Given the description of an element on the screen output the (x, y) to click on. 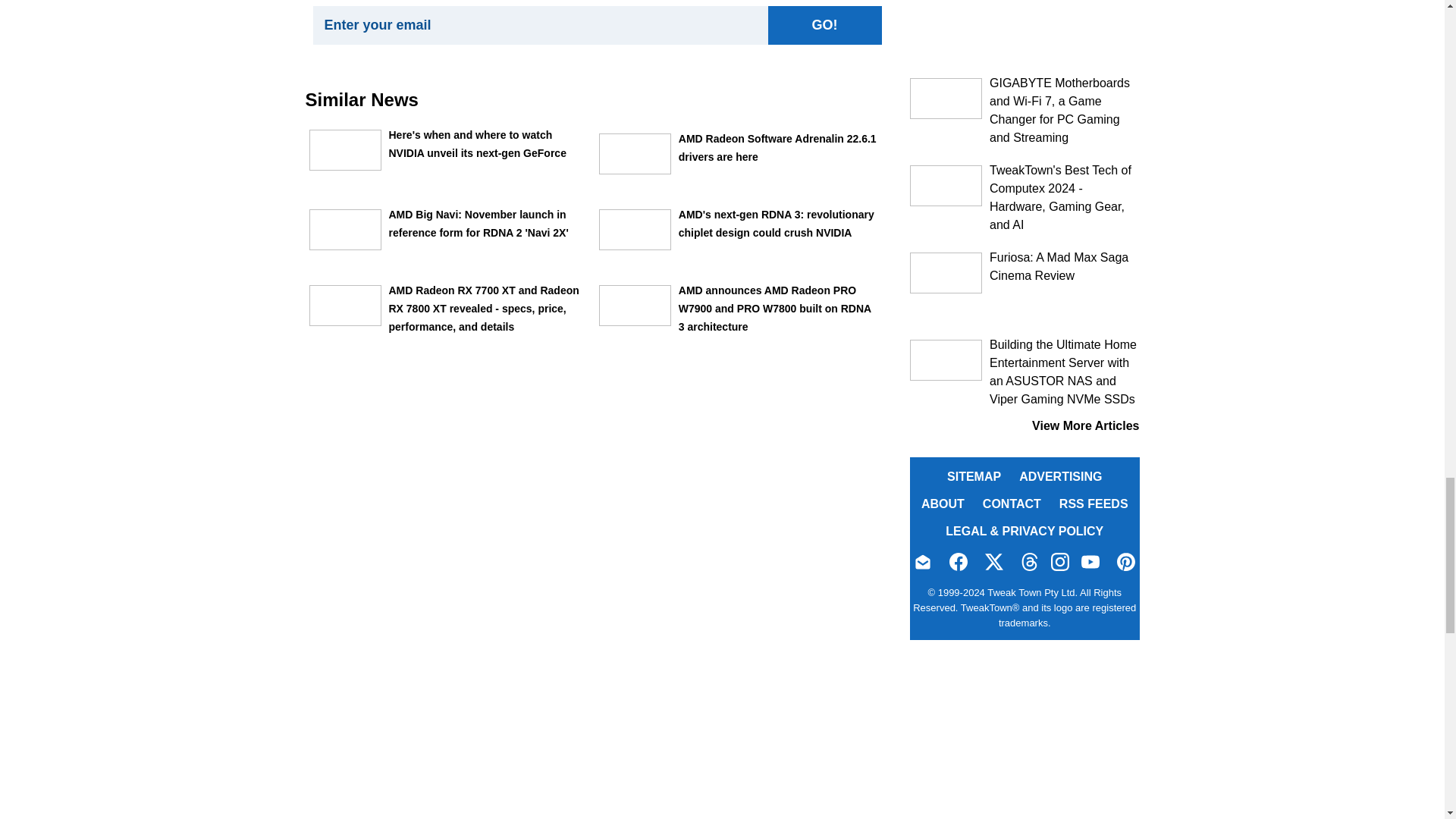
GO! (823, 25)
